Given the description of an element on the screen output the (x, y) to click on. 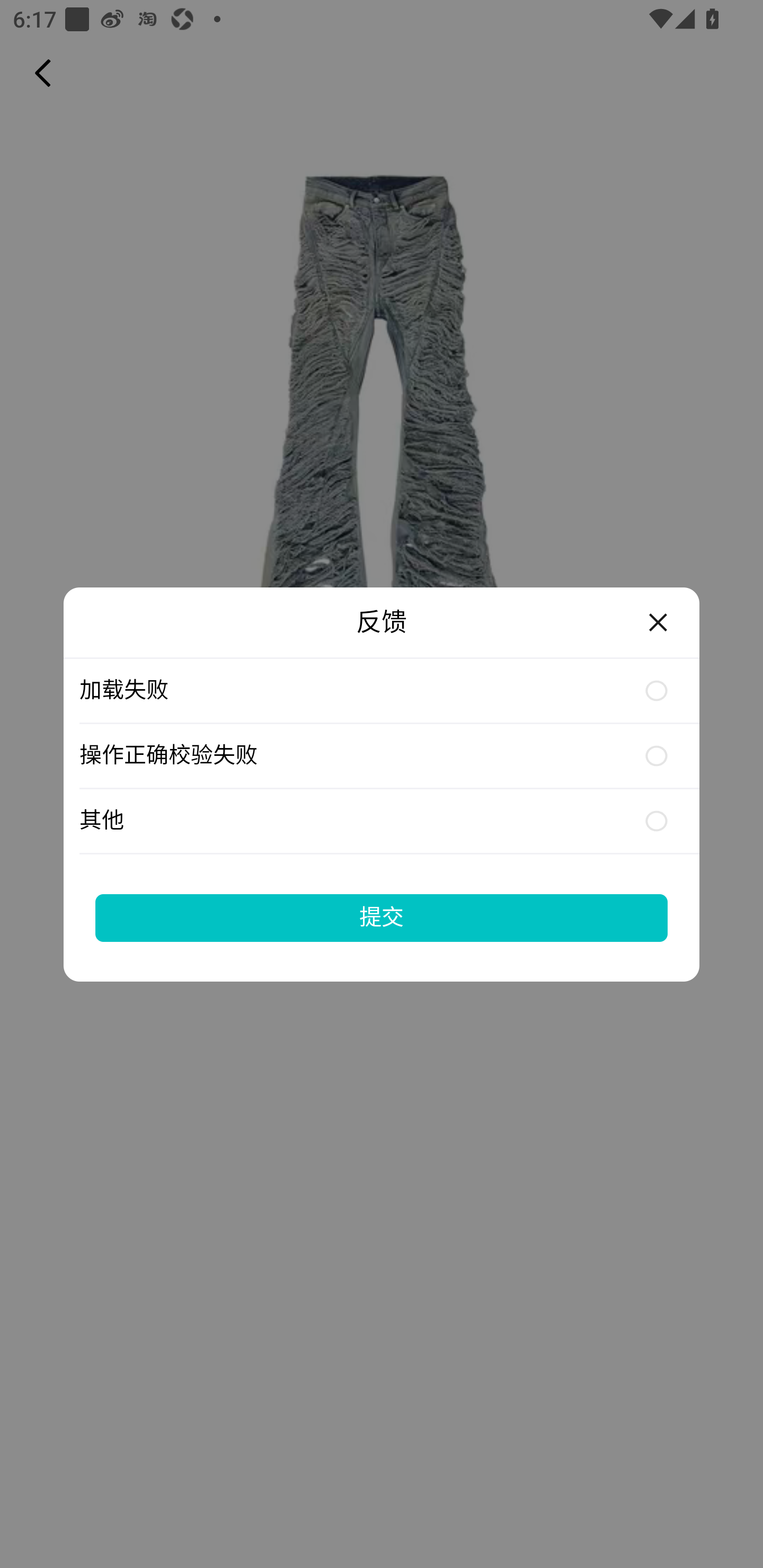
提交 (381, 917)
